Given the description of an element on the screen output the (x, y) to click on. 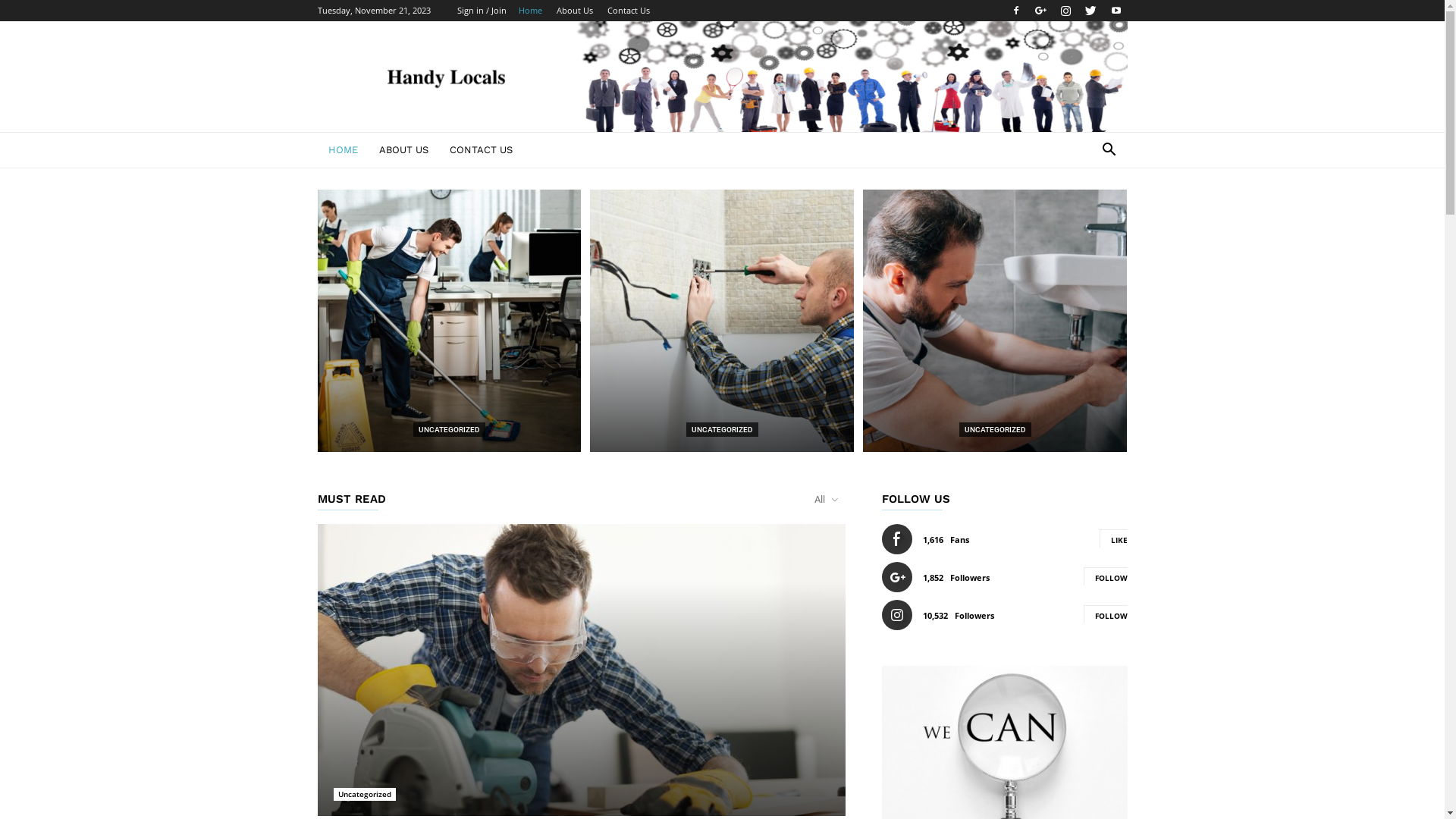
Google+ Element type: hover (1040, 10)
UNCATEGORIZED Element type: text (722, 429)
FOLLOW Element type: text (1104, 576)
Sign in / Join Element type: text (480, 9)
Uncategorized Element type: text (364, 793)
UNCATEGORIZED Element type: text (449, 429)
Contact Us Element type: text (627, 9)
Search Element type: text (1085, 210)
Instagram Element type: hover (1065, 10)
Twitter Element type: hover (1090, 10)
About Us Element type: text (574, 9)
HOME Element type: text (341, 149)
FOLLOW Element type: text (1104, 614)
Home Element type: text (530, 9)
ABOUT US Element type: text (403, 149)
CONTACT US Element type: text (480, 149)
UNCATEGORIZED Element type: text (995, 429)
Youtube Element type: hover (1115, 10)
Facebook Element type: hover (1015, 10)
LIKE Element type: text (1113, 538)
